Given the description of an element on the screen output the (x, y) to click on. 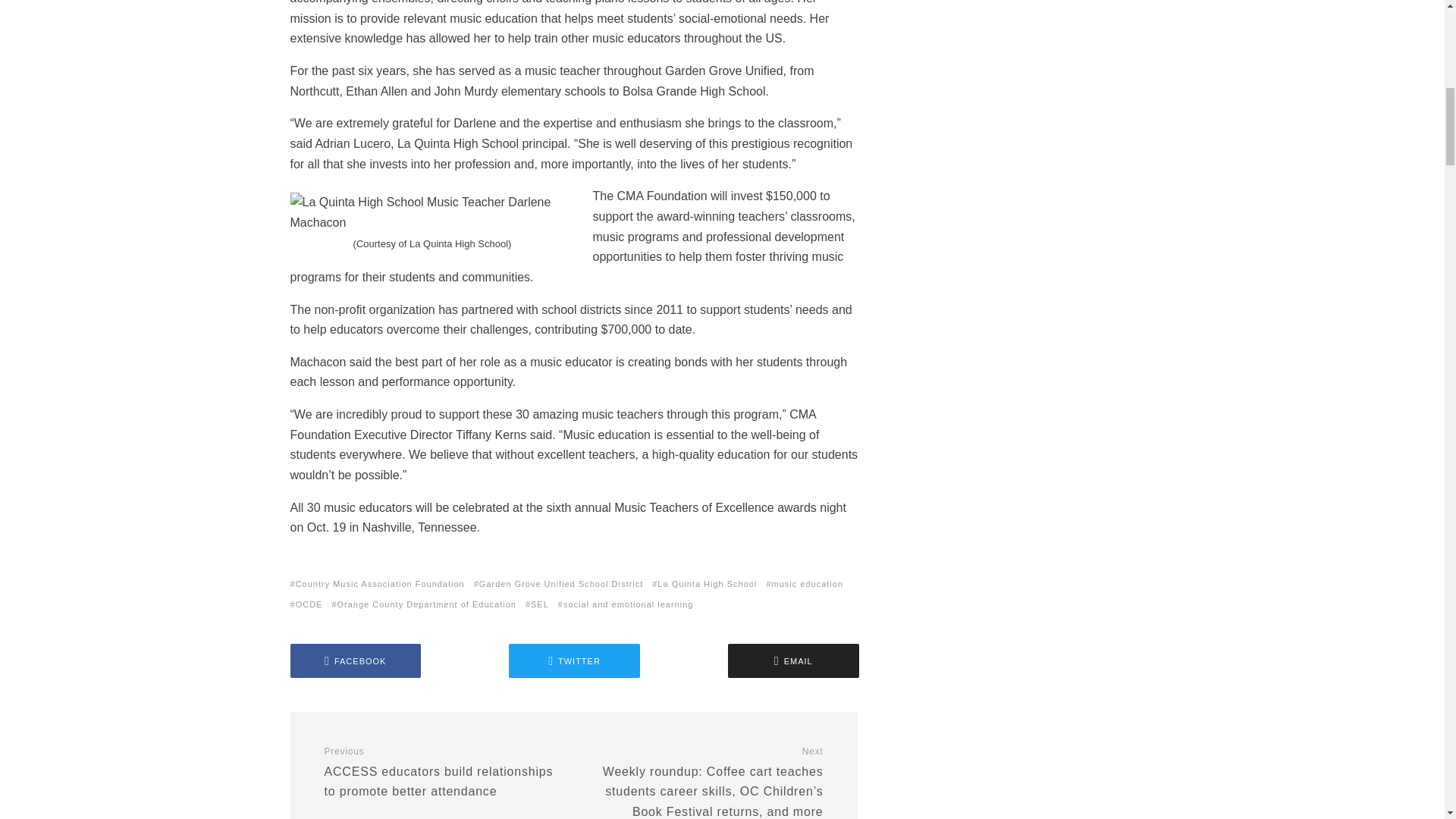
FACEBOOK (354, 660)
Garden Grove Unified School District (563, 583)
EMAIL (793, 660)
music education (808, 583)
TWITTER (574, 660)
social and emotional learning (630, 603)
Country Music Association Foundation (381, 583)
OCDE (310, 603)
Orange County Department of Education (427, 603)
